Given the description of an element on the screen output the (x, y) to click on. 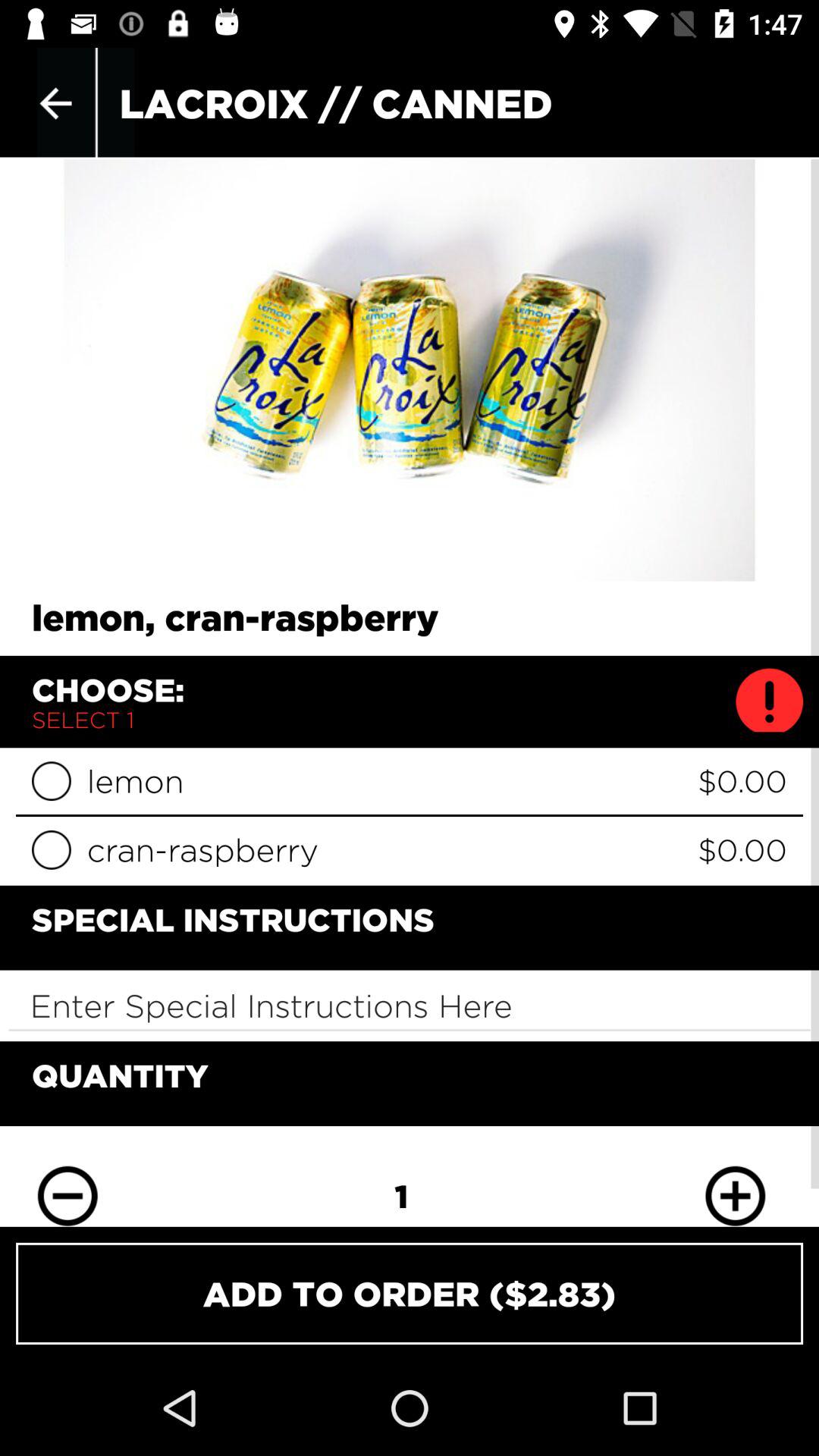
select cran-raspberry option (51, 849)
